Given the description of an element on the screen output the (x, y) to click on. 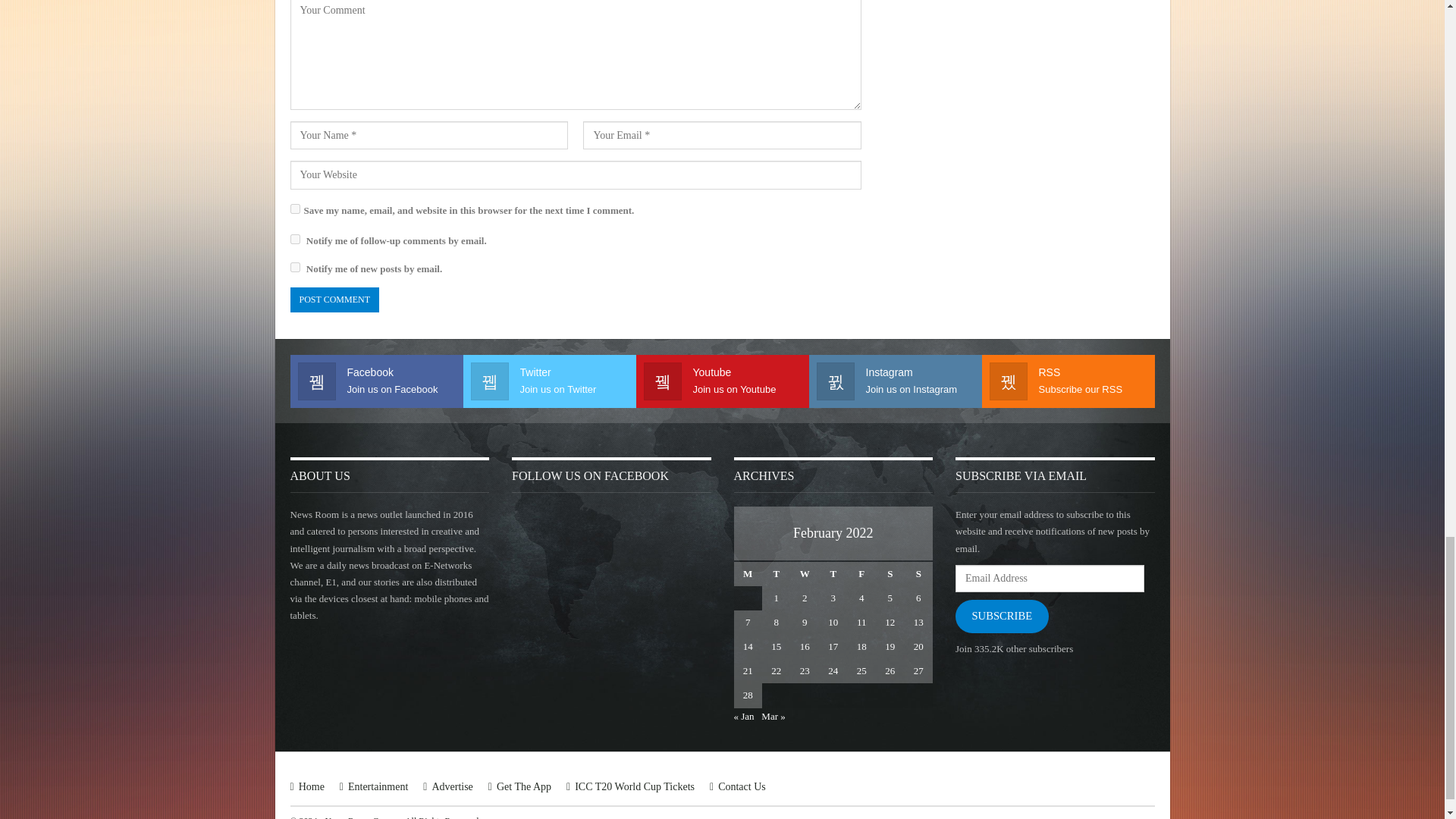
subscribe (294, 266)
yes (294, 208)
subscribe (294, 239)
Post Comment (333, 299)
